Given the description of an element on the screen output the (x, y) to click on. 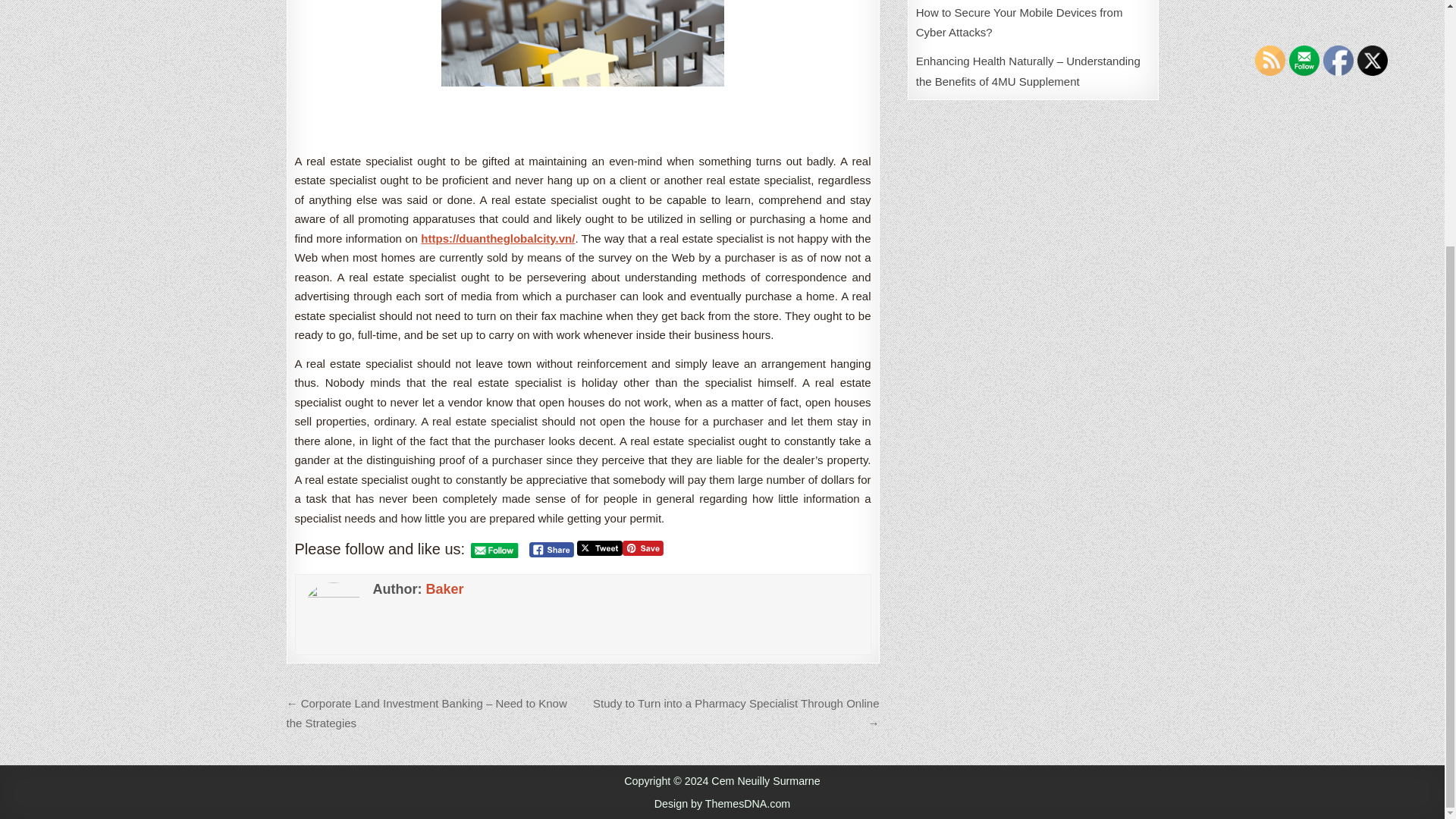
Facebook (1338, 60)
RSS (1270, 60)
Baker (444, 589)
Pin Share (643, 548)
How to Secure Your Mobile Devices from Cyber Attacks? (1018, 21)
Design by ThemesDNA.com (721, 803)
Follow by Email (1303, 60)
Twitter (1371, 60)
Facebook Share (551, 549)
Tweet (599, 548)
